Given the description of an element on the screen output the (x, y) to click on. 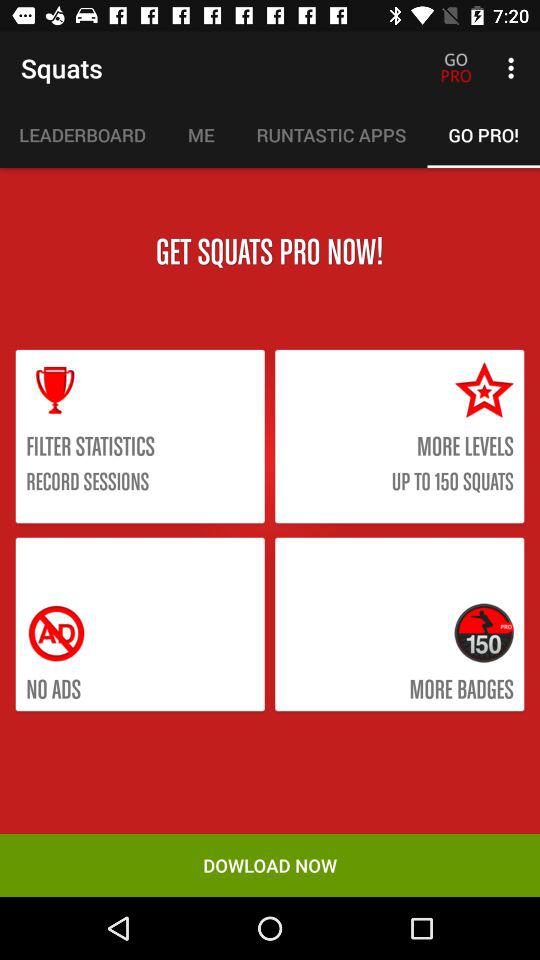
tap item to the left of the go pro! (331, 135)
